Given the description of an element on the screen output the (x, y) to click on. 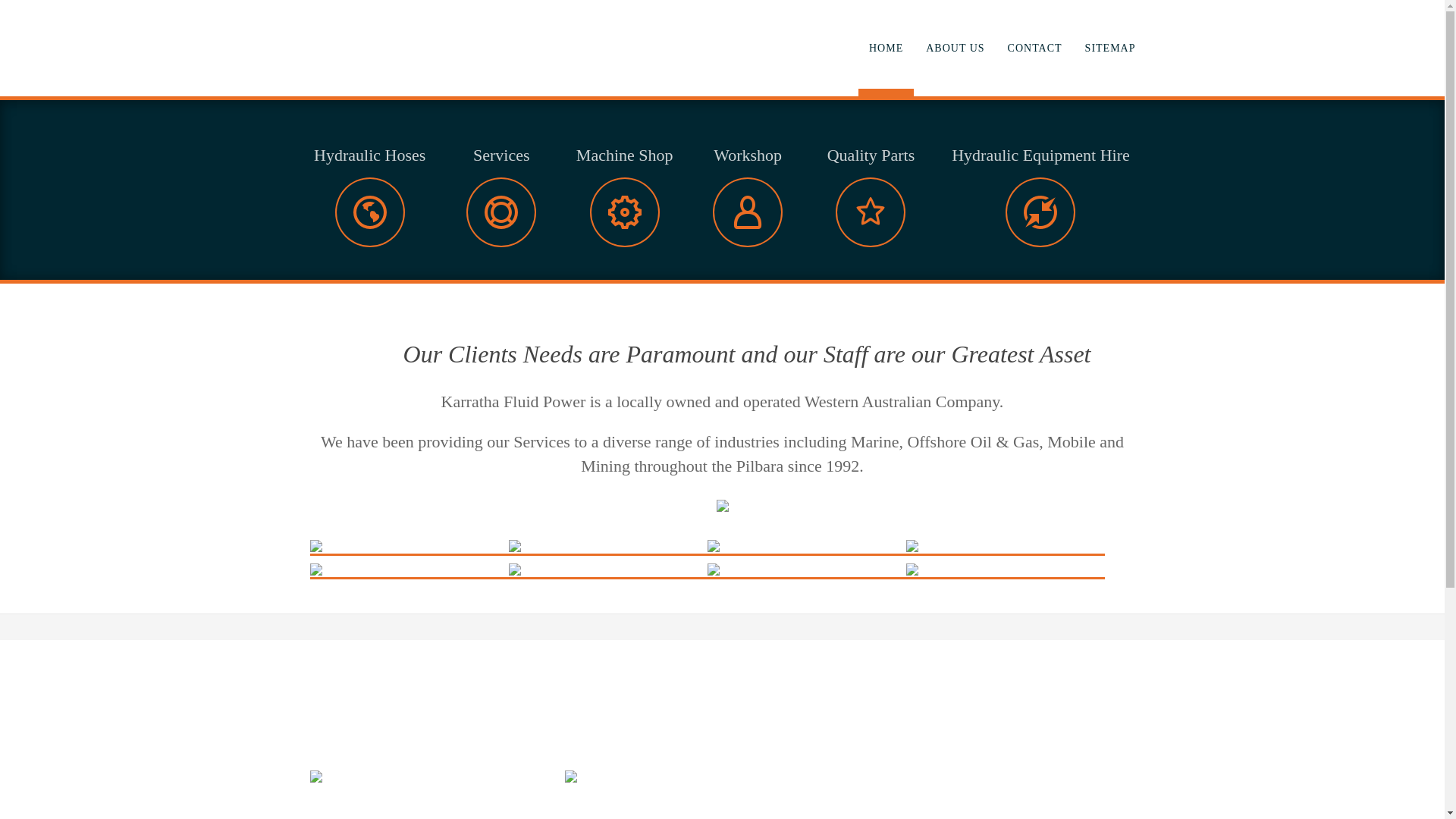
SITEMAP Element type: text (1110, 48)
icon Element type: text (870, 211)
icon Element type: text (369, 211)
icon Element type: text (747, 211)
Next Element type: text (1412, 51)
icon Element type: text (624, 211)
icon Element type: text (500, 211)
HOME Element type: text (885, 48)
ABOUT US Element type: text (954, 48)
icon Element type: text (1040, 211)
Prev Element type: text (32, 51)
CONTACT Element type: text (1035, 48)
